Given the description of an element on the screen output the (x, y) to click on. 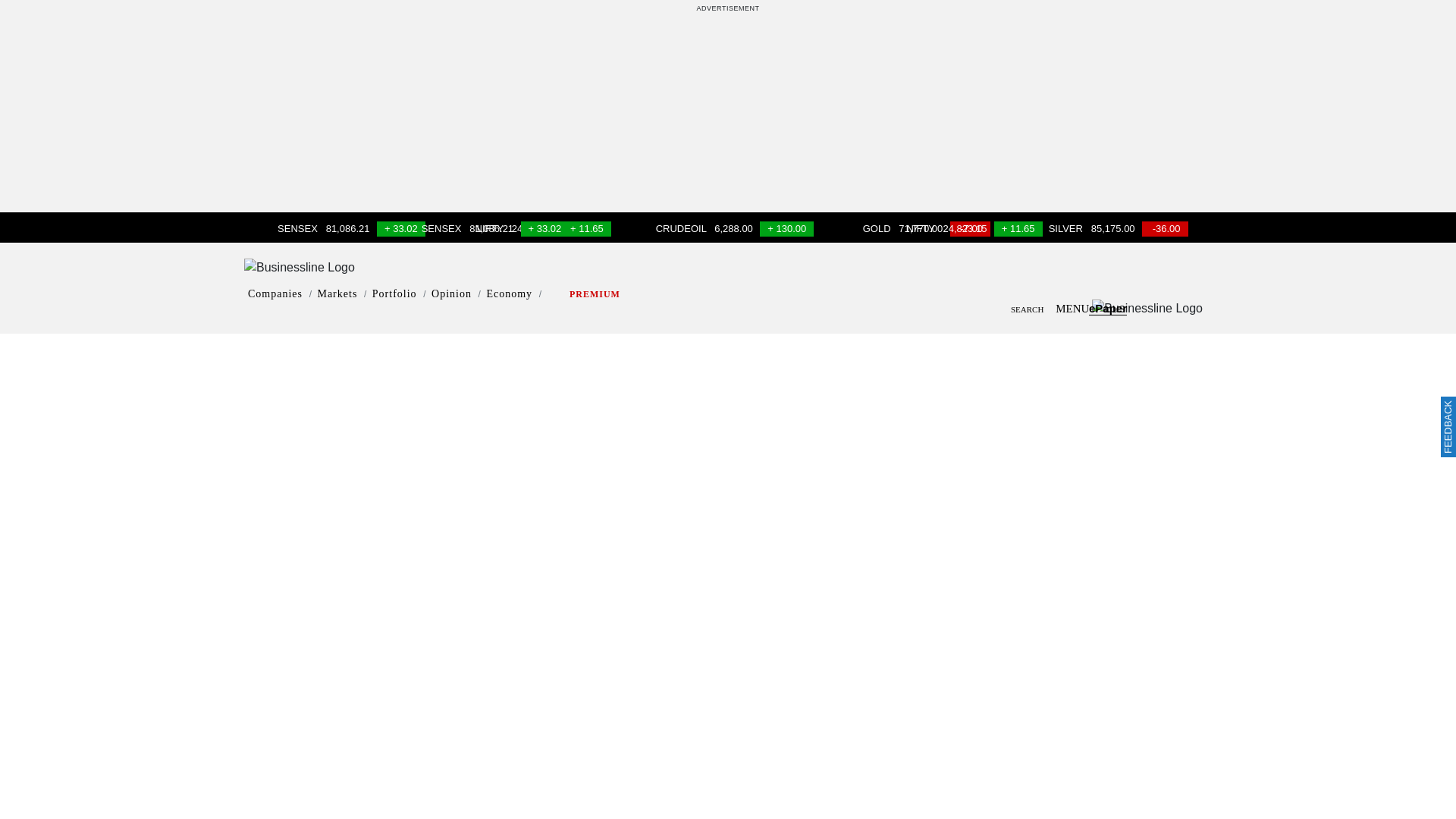
Opinion (450, 293)
Companies (274, 293)
Portfolio (394, 293)
Markets (336, 293)
MENU (1128, 308)
ePaper (1107, 308)
Economy (509, 293)
PREMIUM (594, 294)
